Given the description of an element on the screen output the (x, y) to click on. 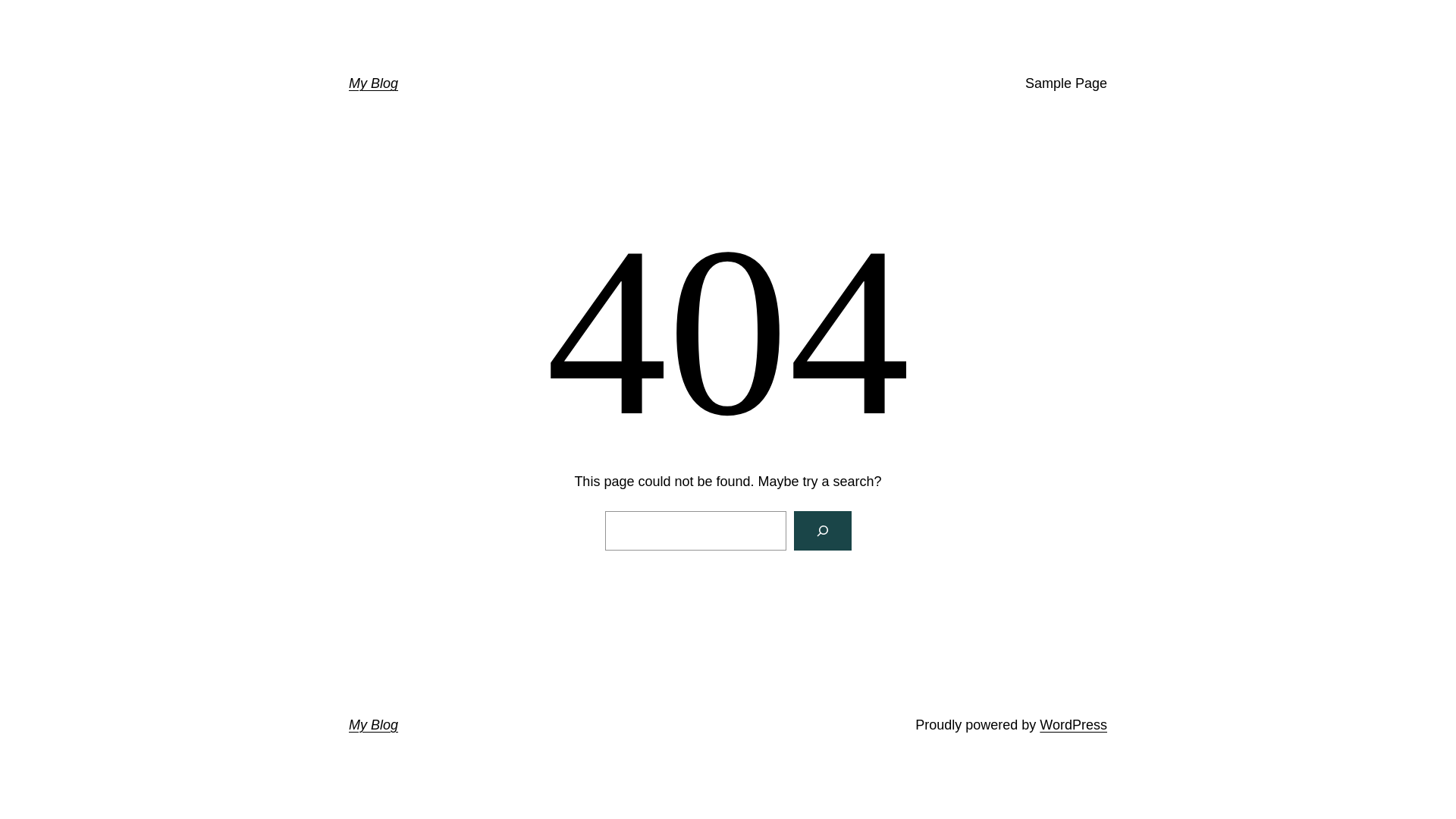
Sample Page Element type: text (1066, 83)
My Blog Element type: text (373, 724)
WordPress Element type: text (1073, 724)
My Blog Element type: text (373, 83)
